Given the description of an element on the screen output the (x, y) to click on. 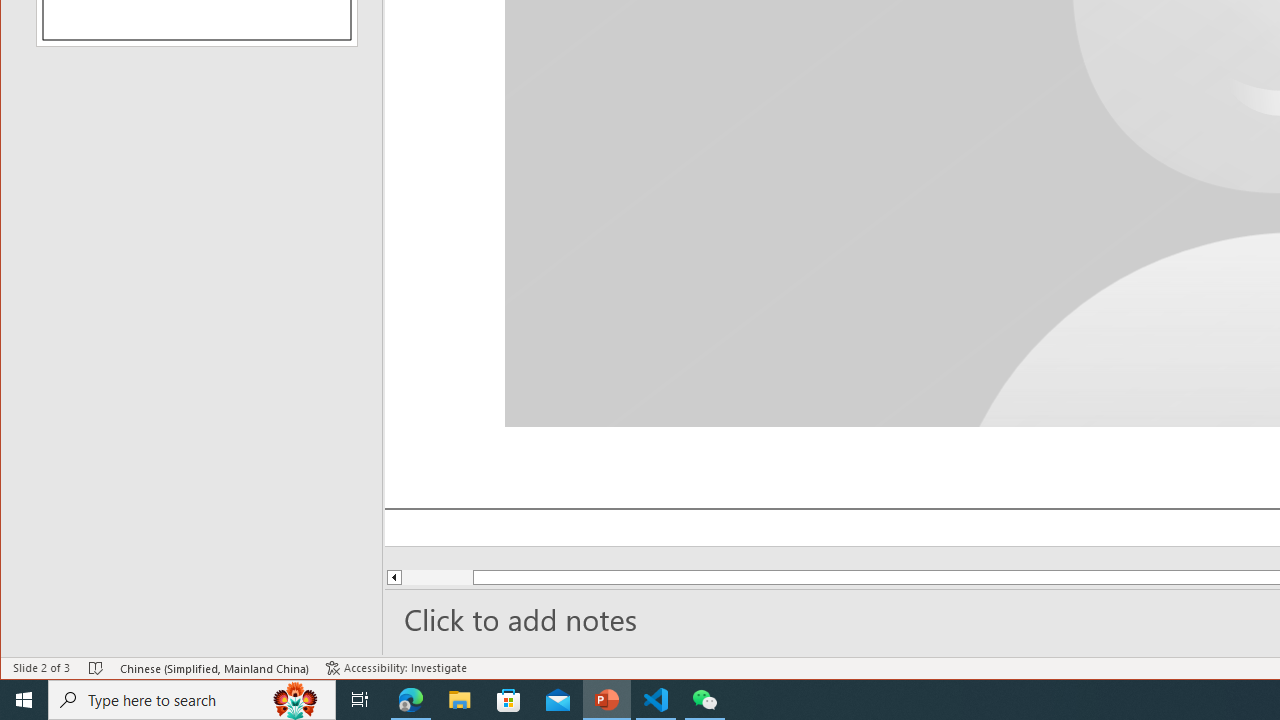
WeChat - 1 running window (704, 699)
